Given the description of an element on the screen output the (x, y) to click on. 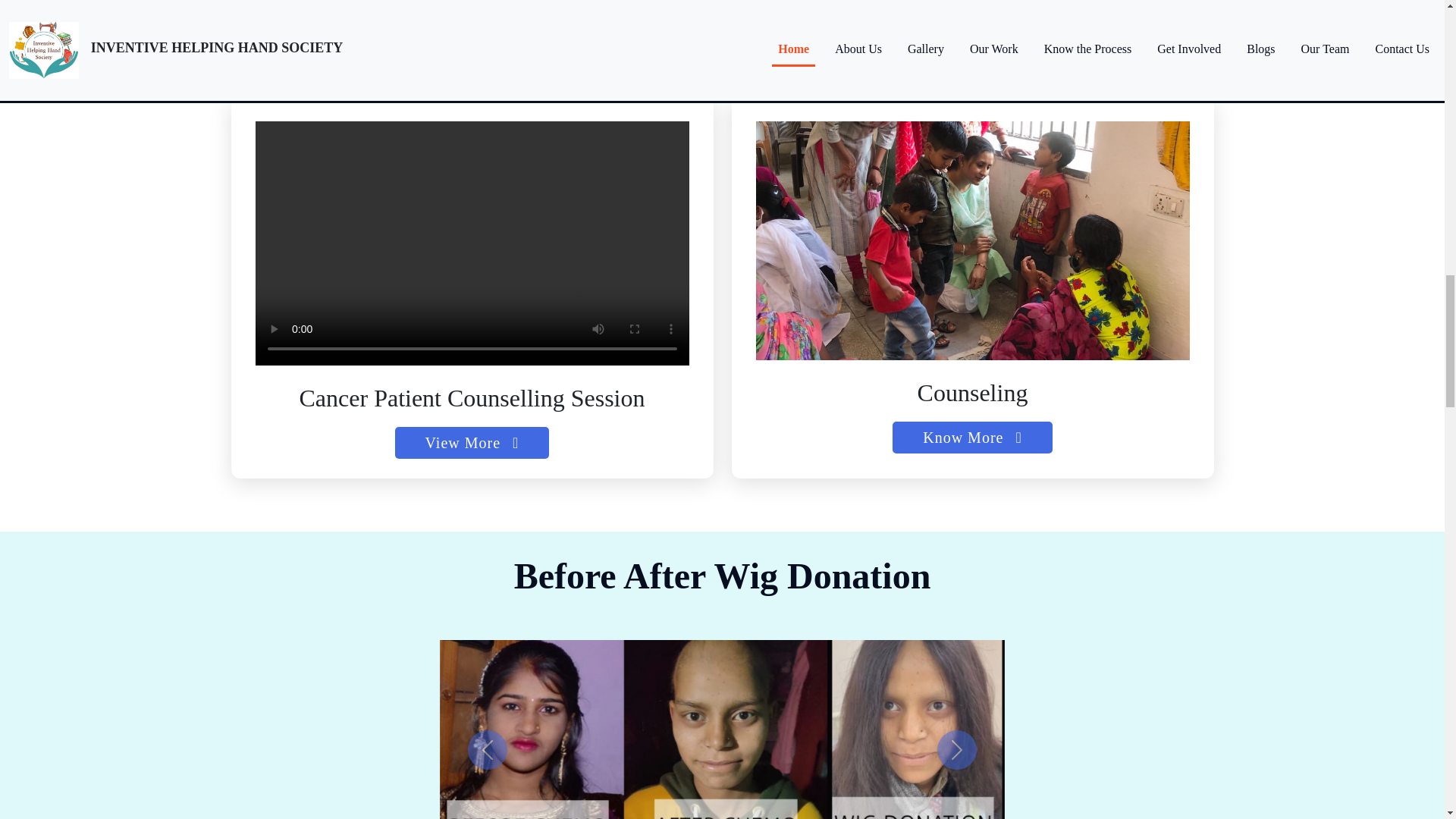
Know More (972, 437)
View More (472, 442)
Previous (486, 749)
Next (956, 749)
